Given the description of an element on the screen output the (x, y) to click on. 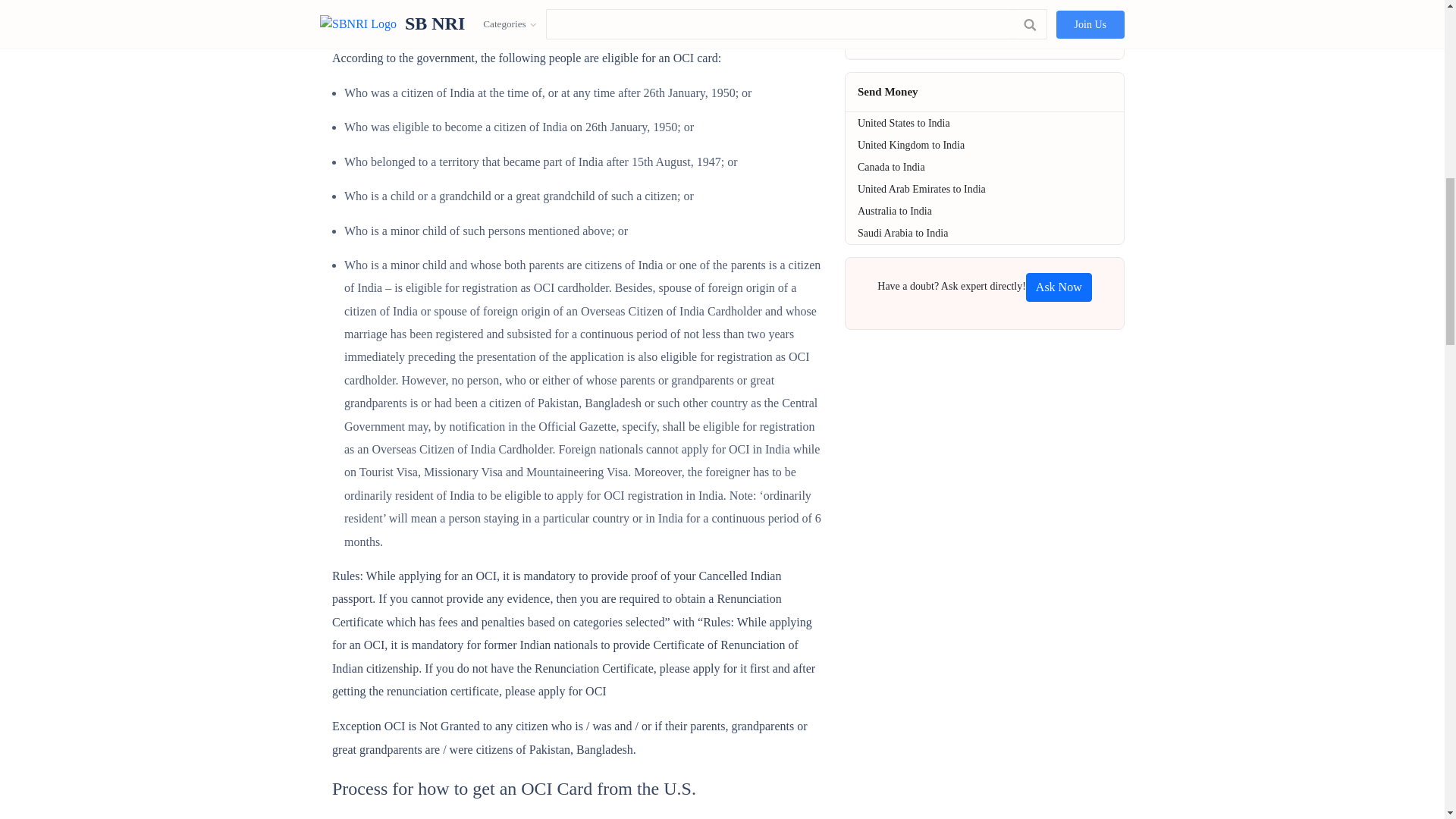
SBNRI (1059, 287)
